Given the description of an element on the screen output the (x, y) to click on. 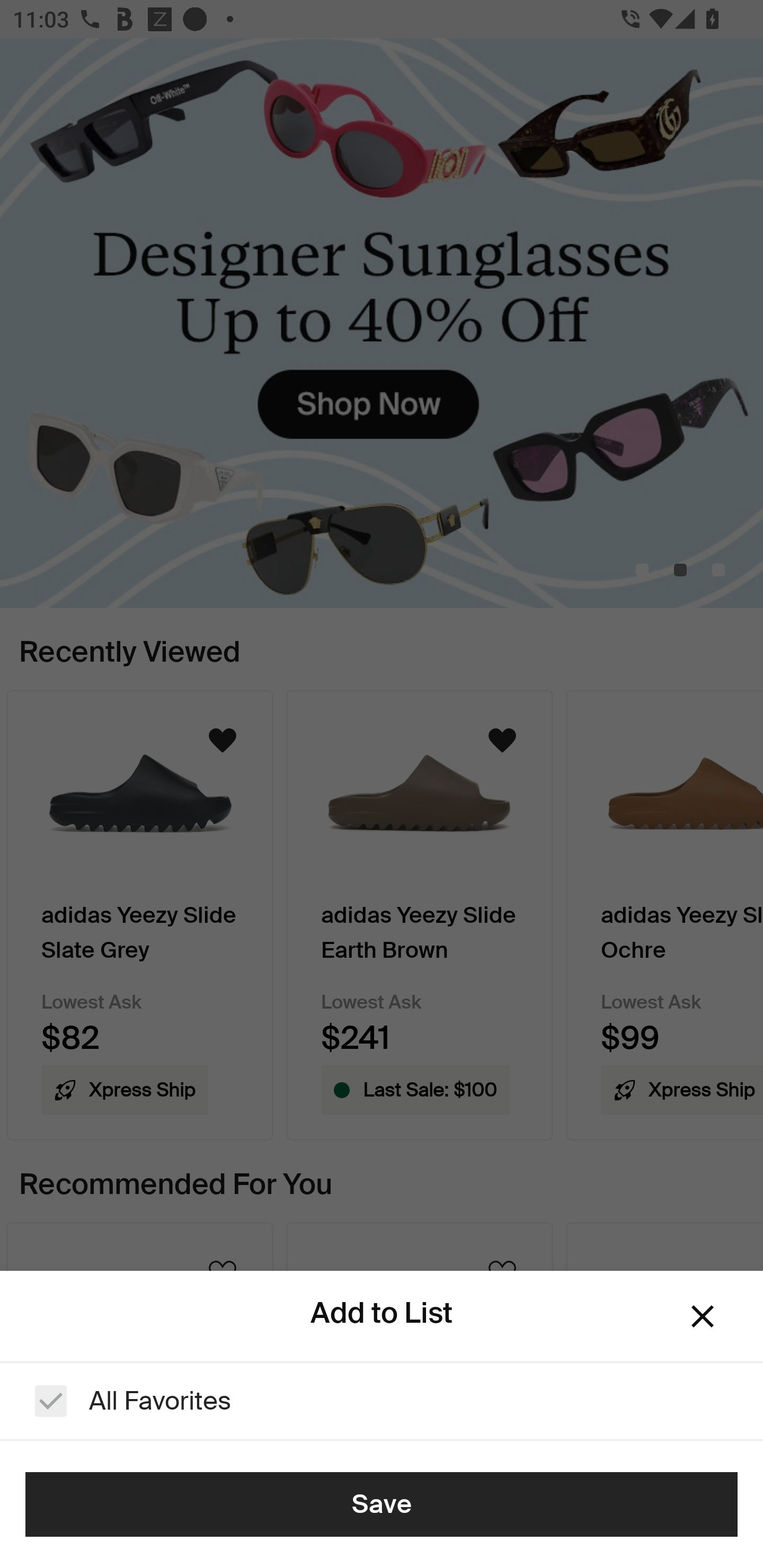
Dismiss (702, 1315)
All Favorites (381, 1400)
Save (381, 1504)
